Given the description of an element on the screen output the (x, y) to click on. 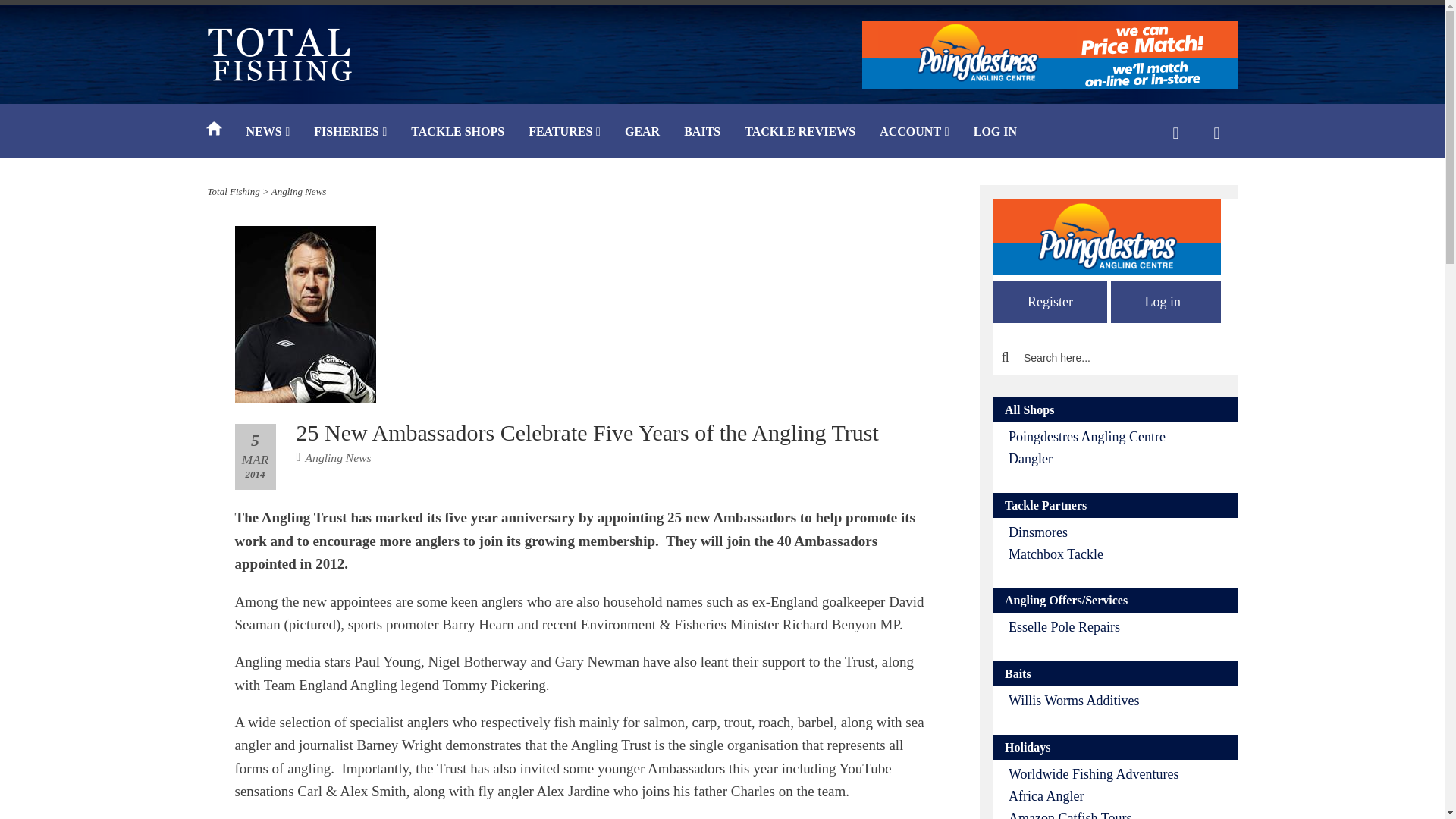
LOG IN (994, 133)
FISHERIES (349, 133)
linkedin (1026, 693)
NEWS (266, 133)
pinterest (958, 693)
TACKLE SHOPS (457, 133)
ACCOUNT (913, 133)
TACKLE REVIEWS (799, 133)
Go to Total Fishing. (234, 191)
twitter (992, 693)
BAITS (701, 133)
FEATURES (564, 133)
GEAR (641, 133)
facebook (924, 693)
Go to the Angling News Category archives. (298, 191)
